Given the description of an element on the screen output the (x, y) to click on. 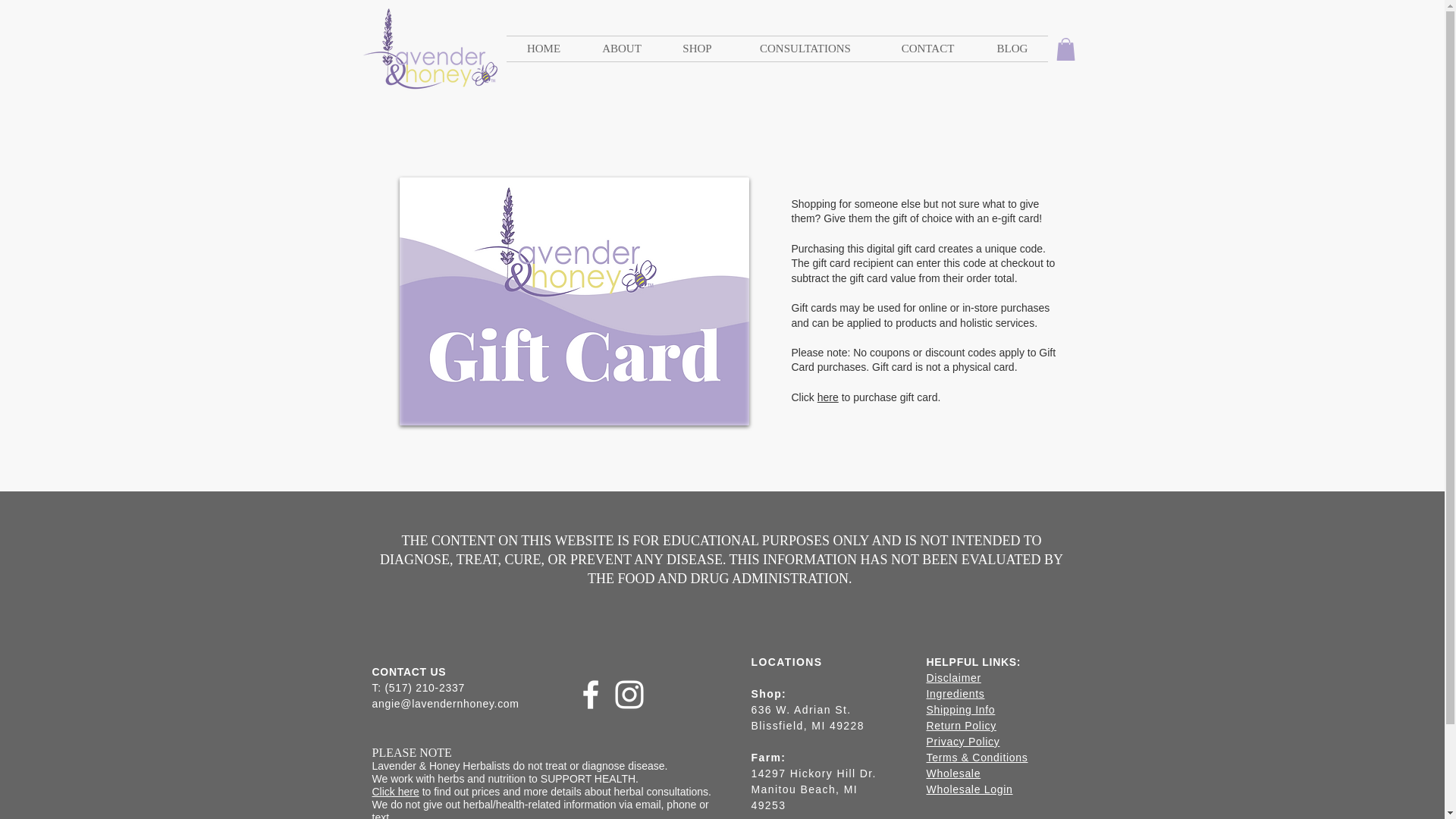
HOME (543, 48)
Privacy Policy (963, 741)
here (827, 397)
Wholesale Login (969, 788)
Wholesale (953, 773)
Disclaimer (953, 677)
CONTACT (926, 48)
Click here (395, 791)
Ingredients (955, 693)
Return Policy (960, 725)
CONSULTATIONS (805, 48)
Shipping Info (960, 709)
SHOP (697, 48)
BLOG (1011, 48)
